Given the description of an element on the screen output the (x, y) to click on. 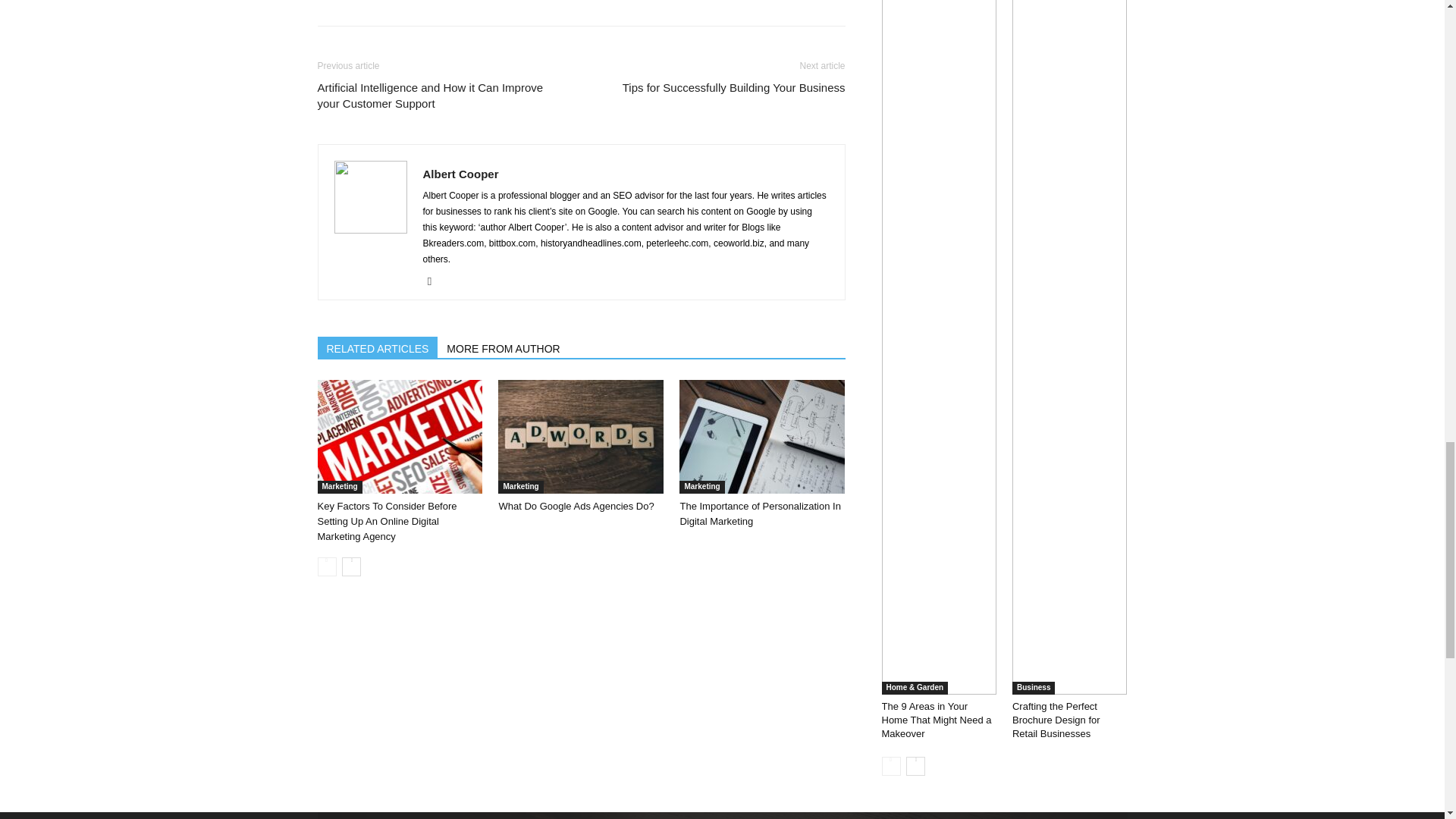
Facebook (435, 281)
What Do Google Ads Agencies Do? (580, 436)
